Given the description of an element on the screen output the (x, y) to click on. 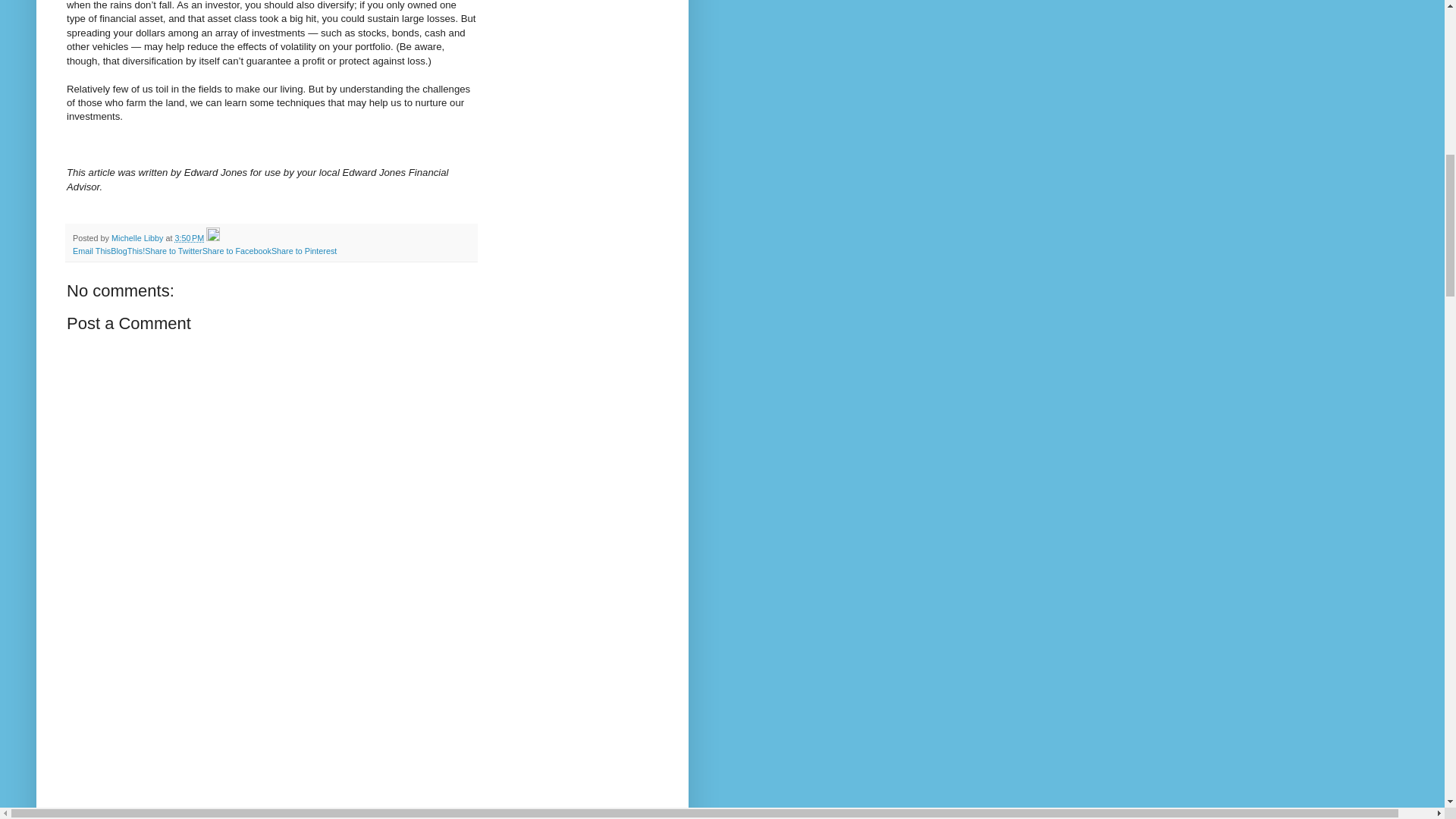
Email This (91, 250)
Share to Twitter (173, 250)
BlogThis! (127, 250)
permanent link (188, 237)
Advertisement (271, 742)
BlogThis! (127, 250)
author profile (138, 237)
Share to Facebook (236, 250)
Michelle Libby (138, 237)
Edit Post (212, 237)
Share to Facebook (236, 250)
Share to Pinterest (303, 250)
Share to Pinterest (303, 250)
Share to Twitter (173, 250)
